Given the description of an element on the screen output the (x, y) to click on. 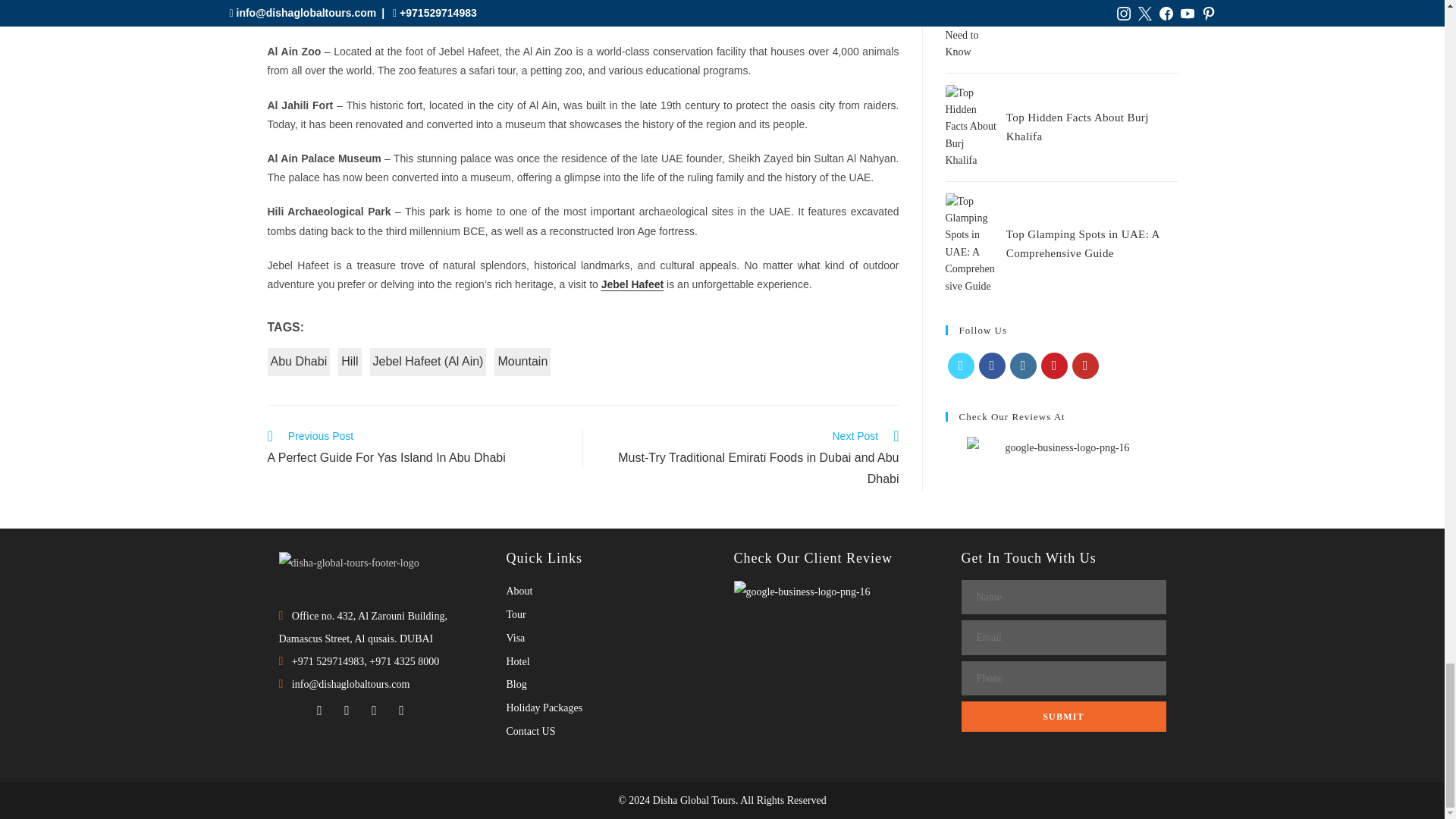
Submit (1063, 716)
